Given the description of an element on the screen output the (x, y) to click on. 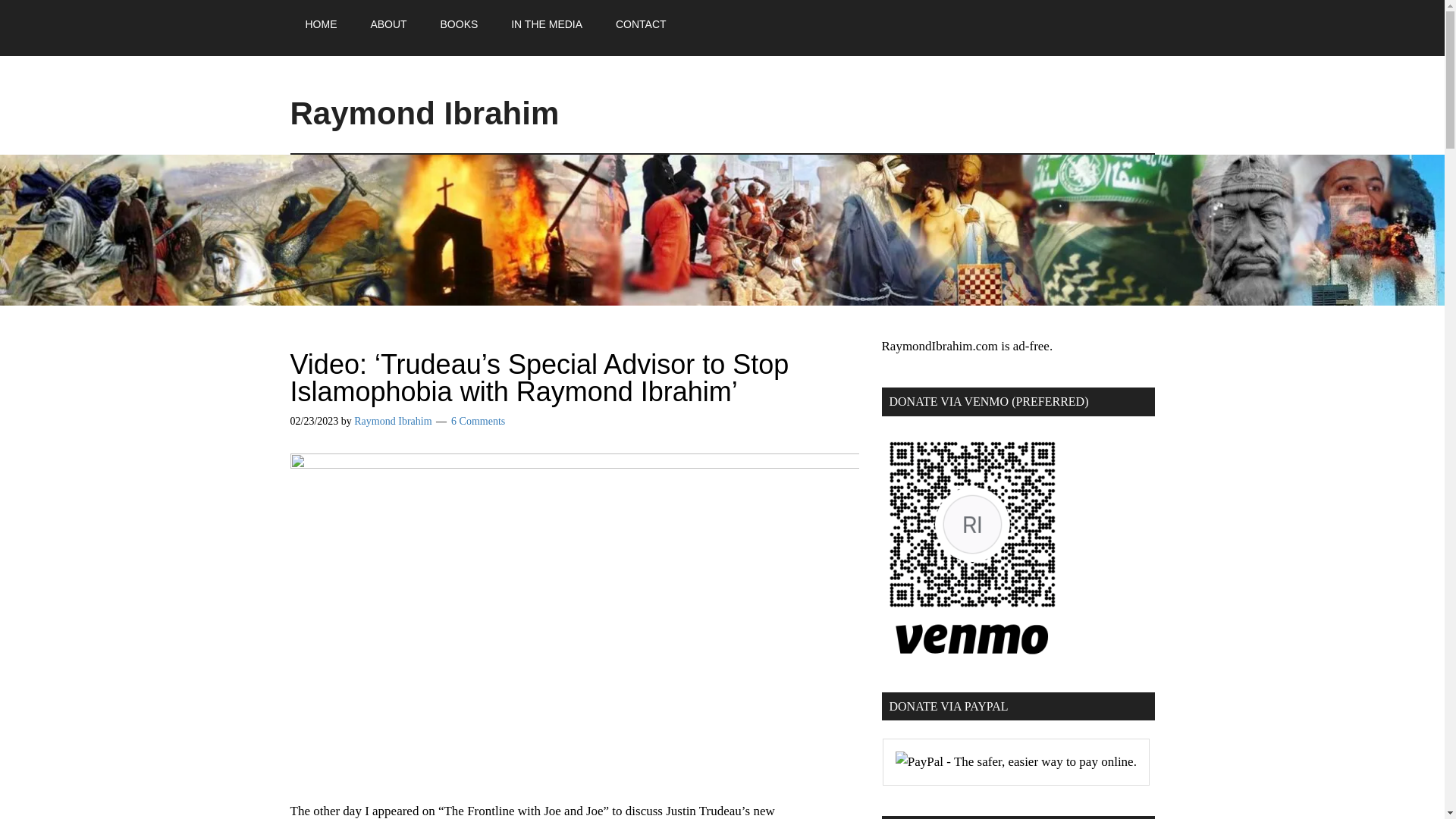
BOOKS (459, 24)
IN THE MEDIA (546, 24)
6 Comments (478, 420)
Raymond Ibrahim (391, 420)
Raymond Ibrahim (424, 113)
HOME (320, 24)
CONTACT (640, 24)
ABOUT (388, 24)
